Given the description of an element on the screen output the (x, y) to click on. 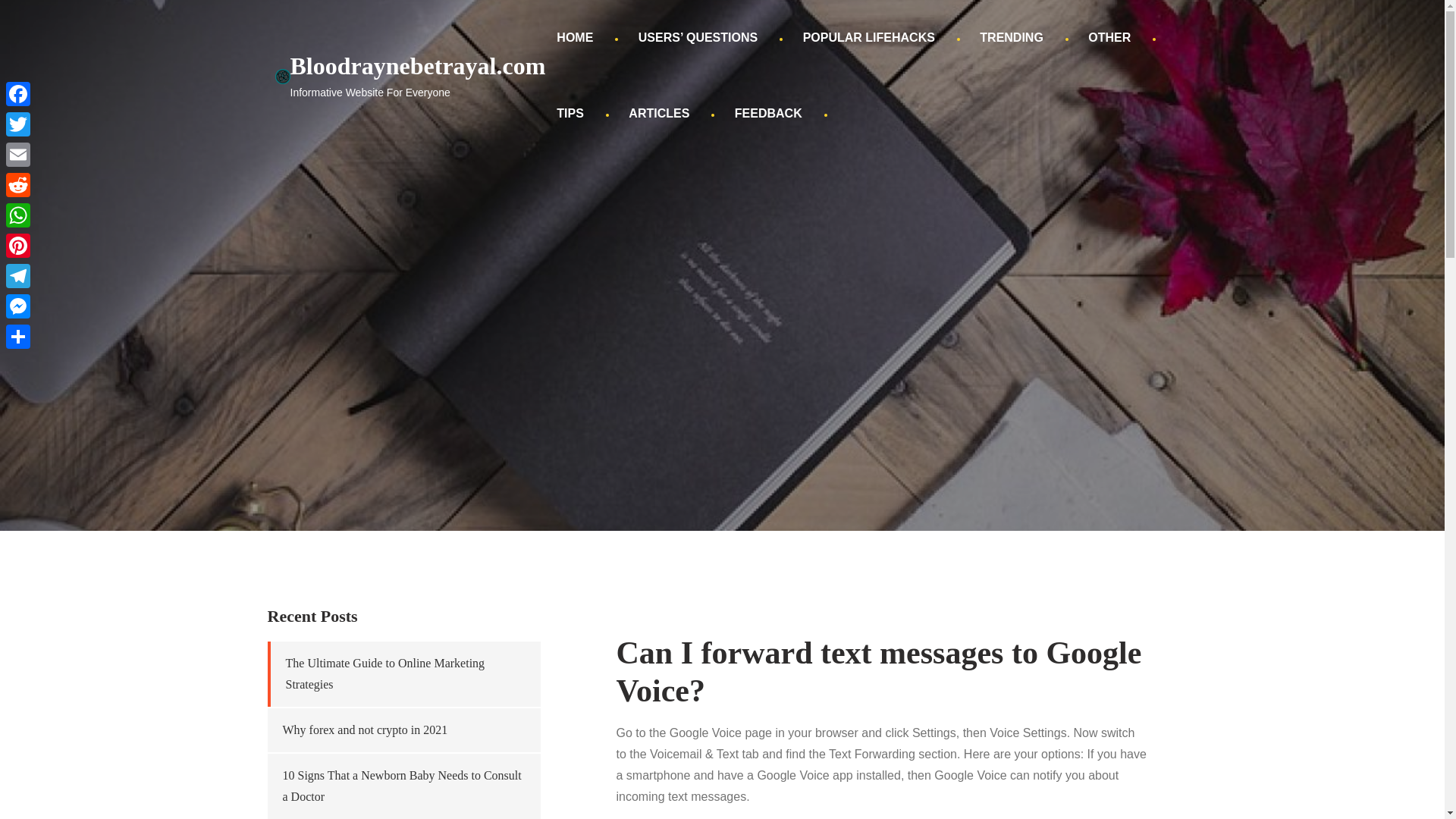
Telegram (17, 276)
POPULAR LIFEHACKS (869, 38)
Reddit (17, 184)
The Ultimate Guide to Online Marketing Strategies (384, 673)
10 Signs That a Newborn Baby Needs to Consult a Doctor (401, 786)
Messenger (17, 306)
Pinterest (17, 245)
Bloodraynebetrayal.com (416, 65)
FEEDBACK (768, 113)
ARTICLES (658, 113)
